Given the description of an element on the screen output the (x, y) to click on. 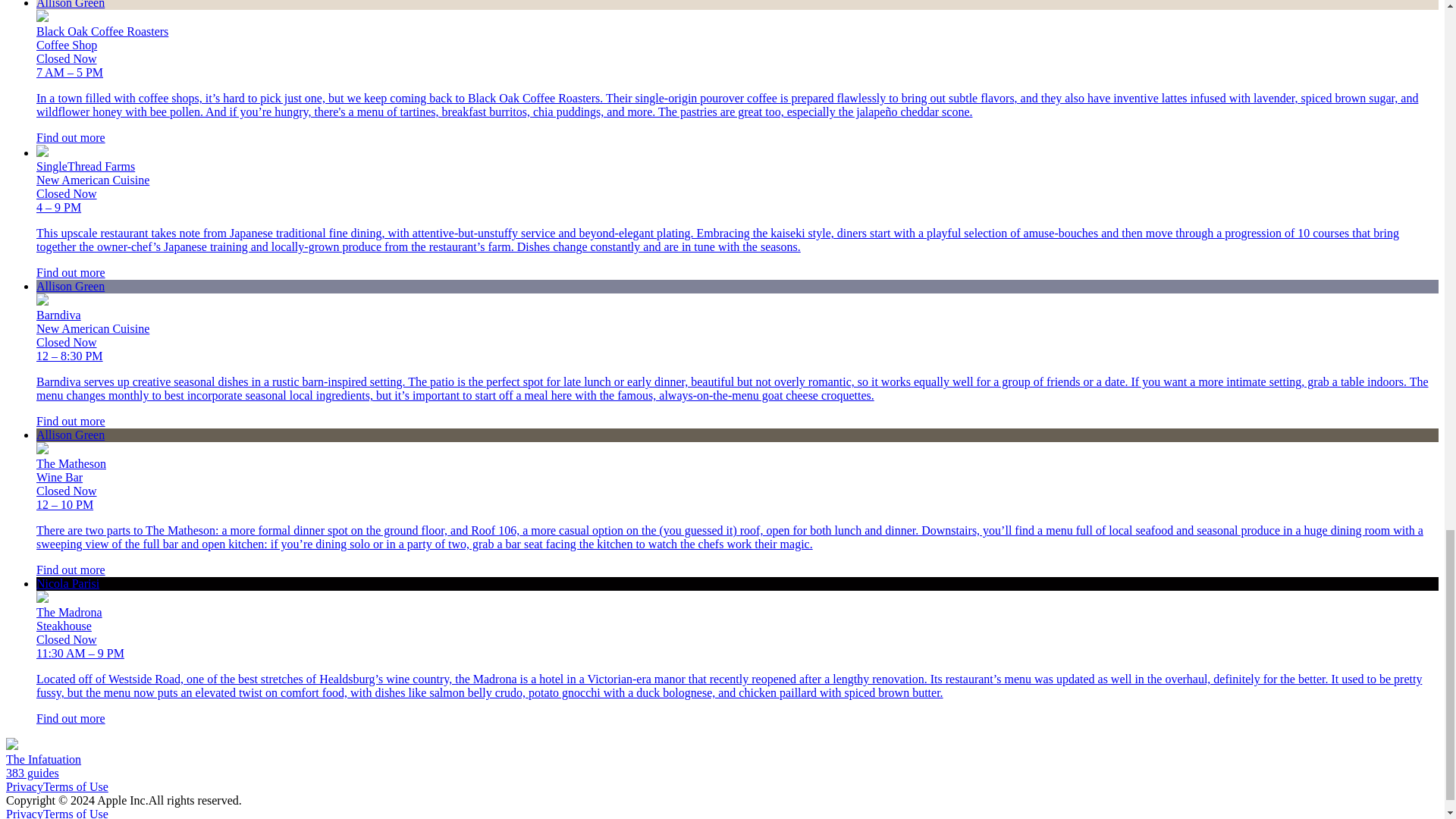
Find out more (70, 272)
Terms of Use (75, 786)
Privacy (24, 786)
Find out more (70, 569)
Find out more (70, 420)
Find out more (70, 717)
Find out more (70, 137)
